Given the description of an element on the screen output the (x, y) to click on. 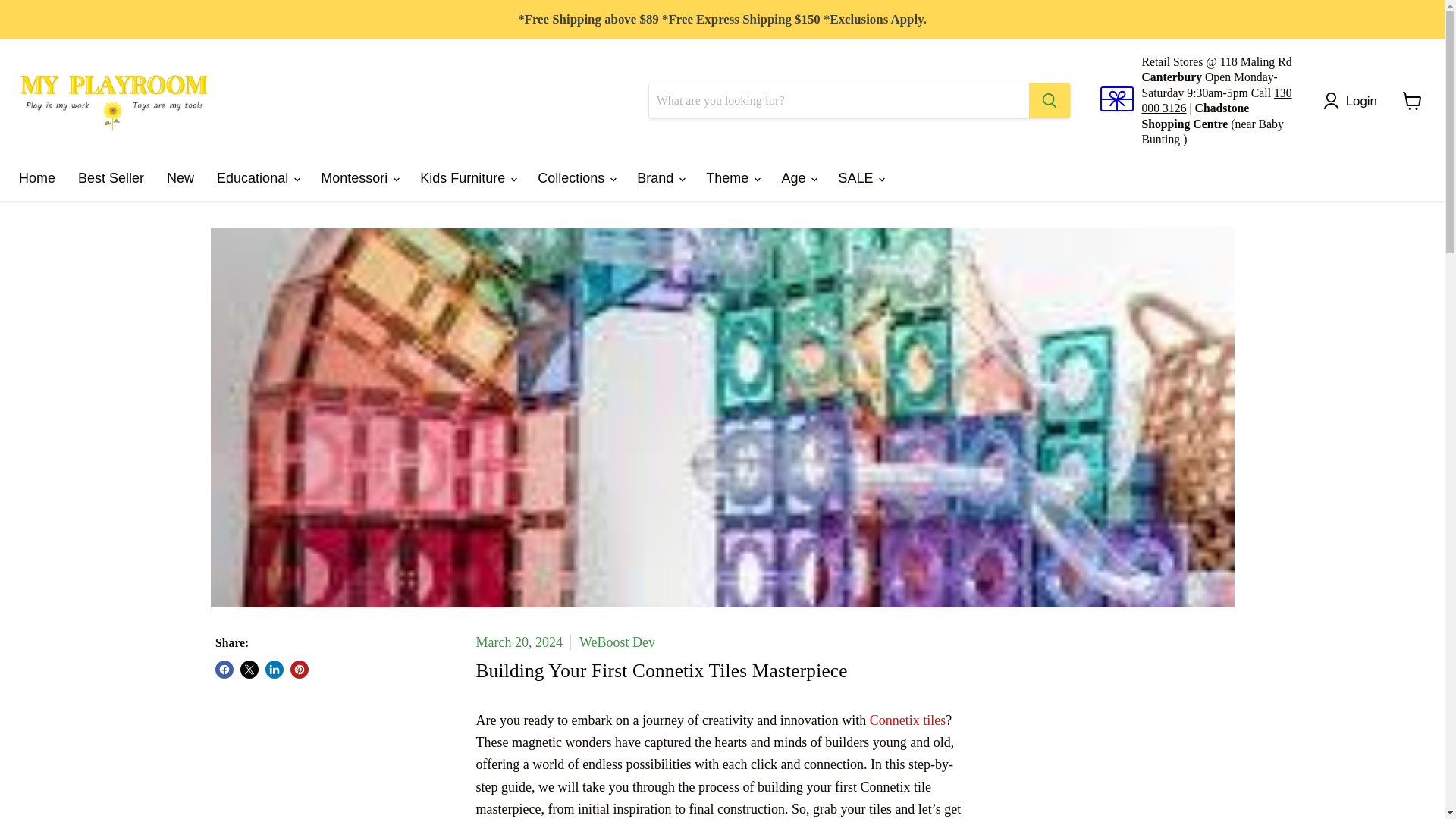
New (180, 177)
Home (36, 177)
130 000 3126 (1216, 100)
Login (1353, 100)
View cart (1411, 100)
tel:1300003126 (1216, 100)
Best Seller (110, 177)
